Given the description of an element on the screen output the (x, y) to click on. 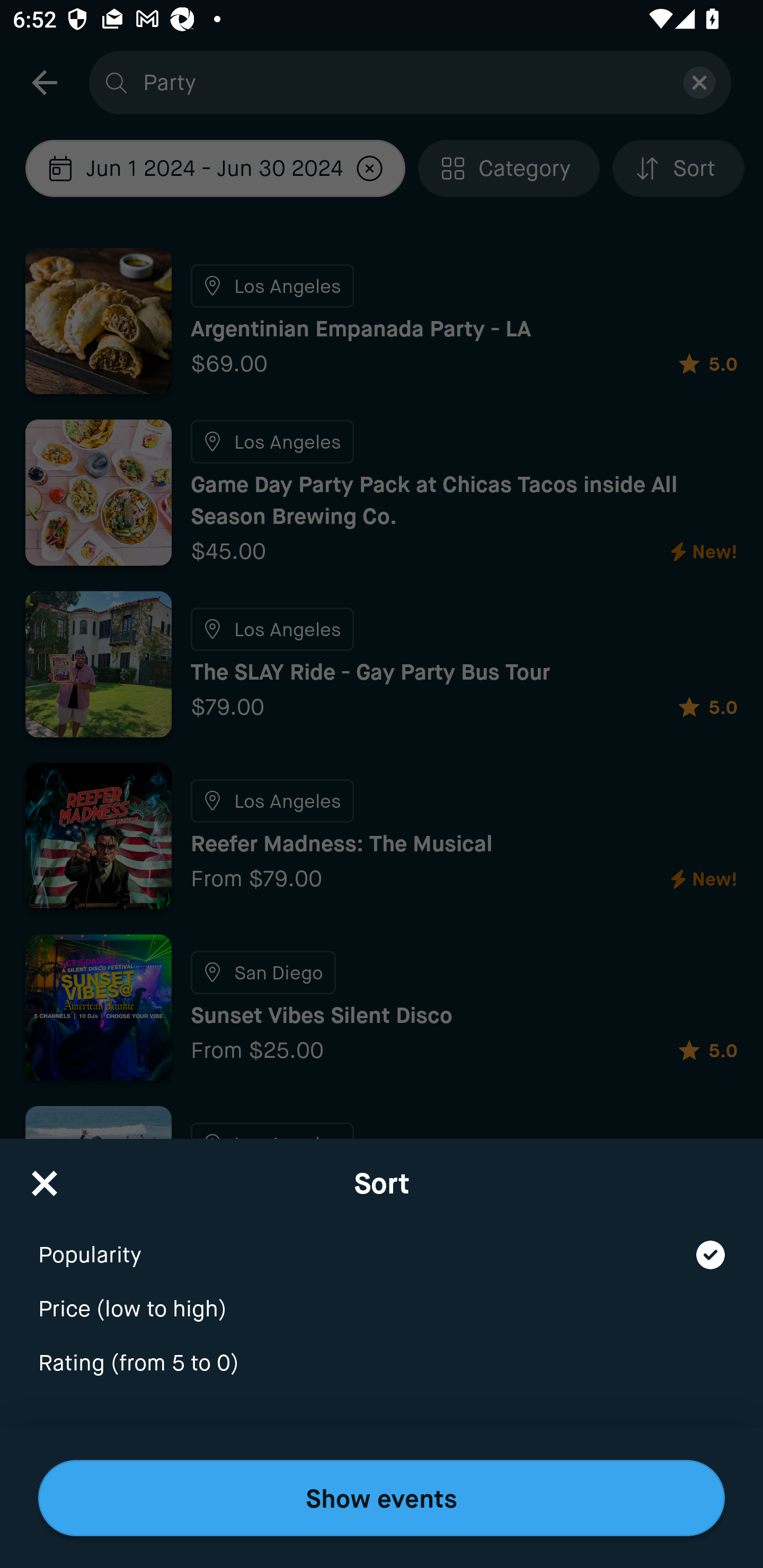
CloseButton (44, 1177)
Popularity Selected Icon (381, 1243)
Price (low to high) (381, 1297)
Rating (from 5 to 0) (381, 1362)
Show events (381, 1497)
